Given the description of an element on the screen output the (x, y) to click on. 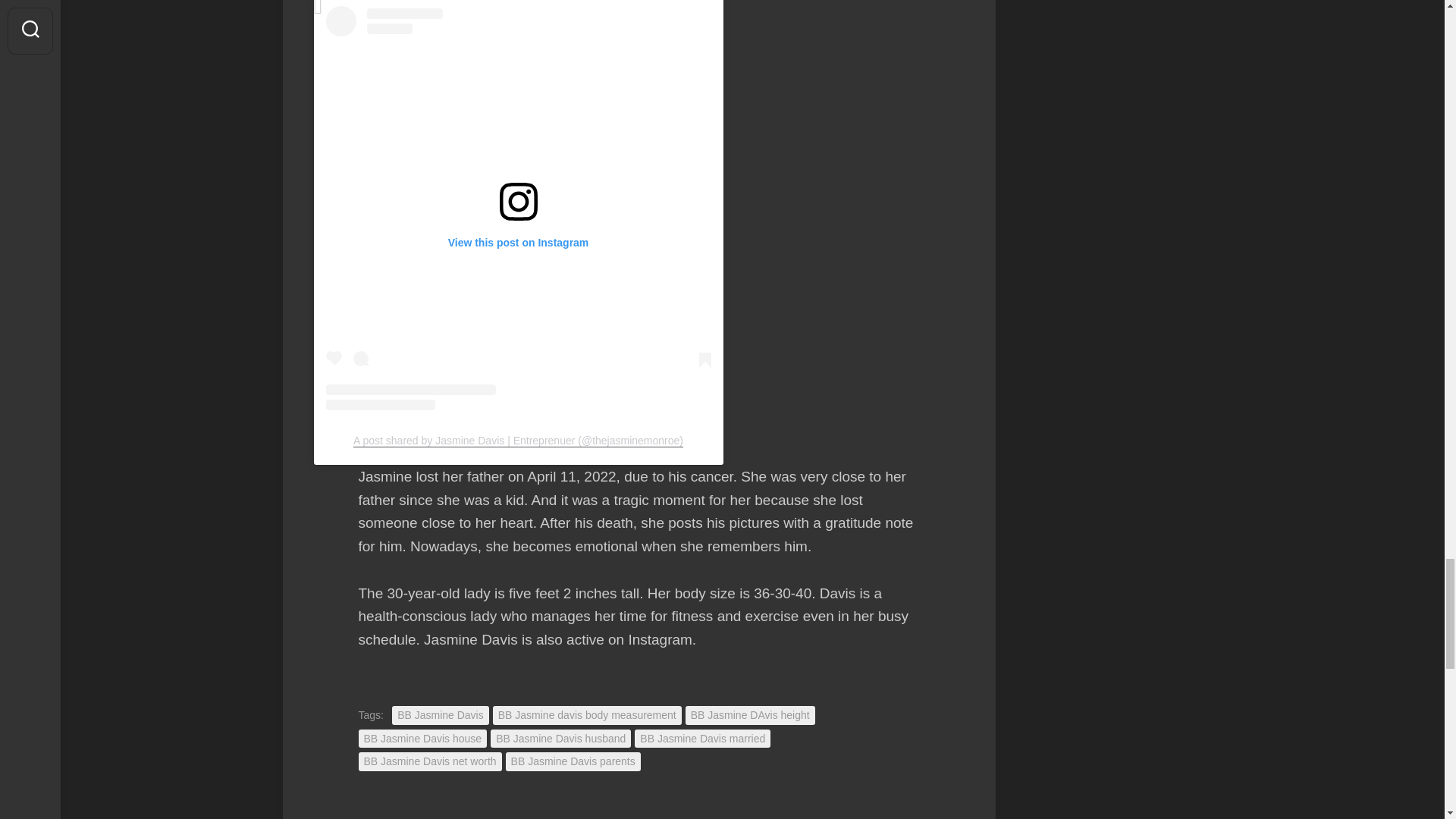
BB Jasmine davis body measurement (587, 714)
BB Jasmine Davis (440, 714)
